Given the description of an element on the screen output the (x, y) to click on. 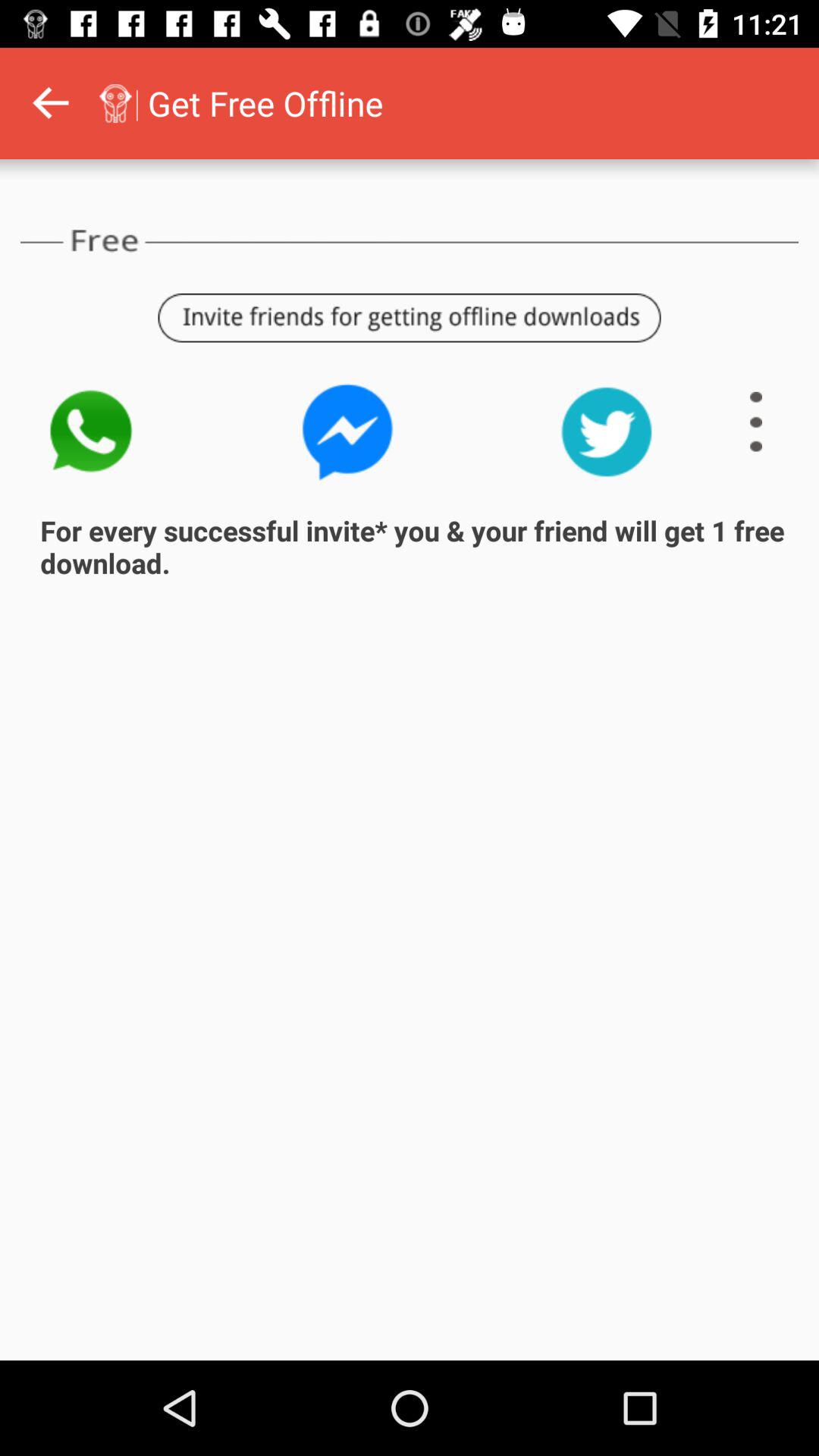
invite with whatsapp (348, 431)
